Given the description of an element on the screen output the (x, y) to click on. 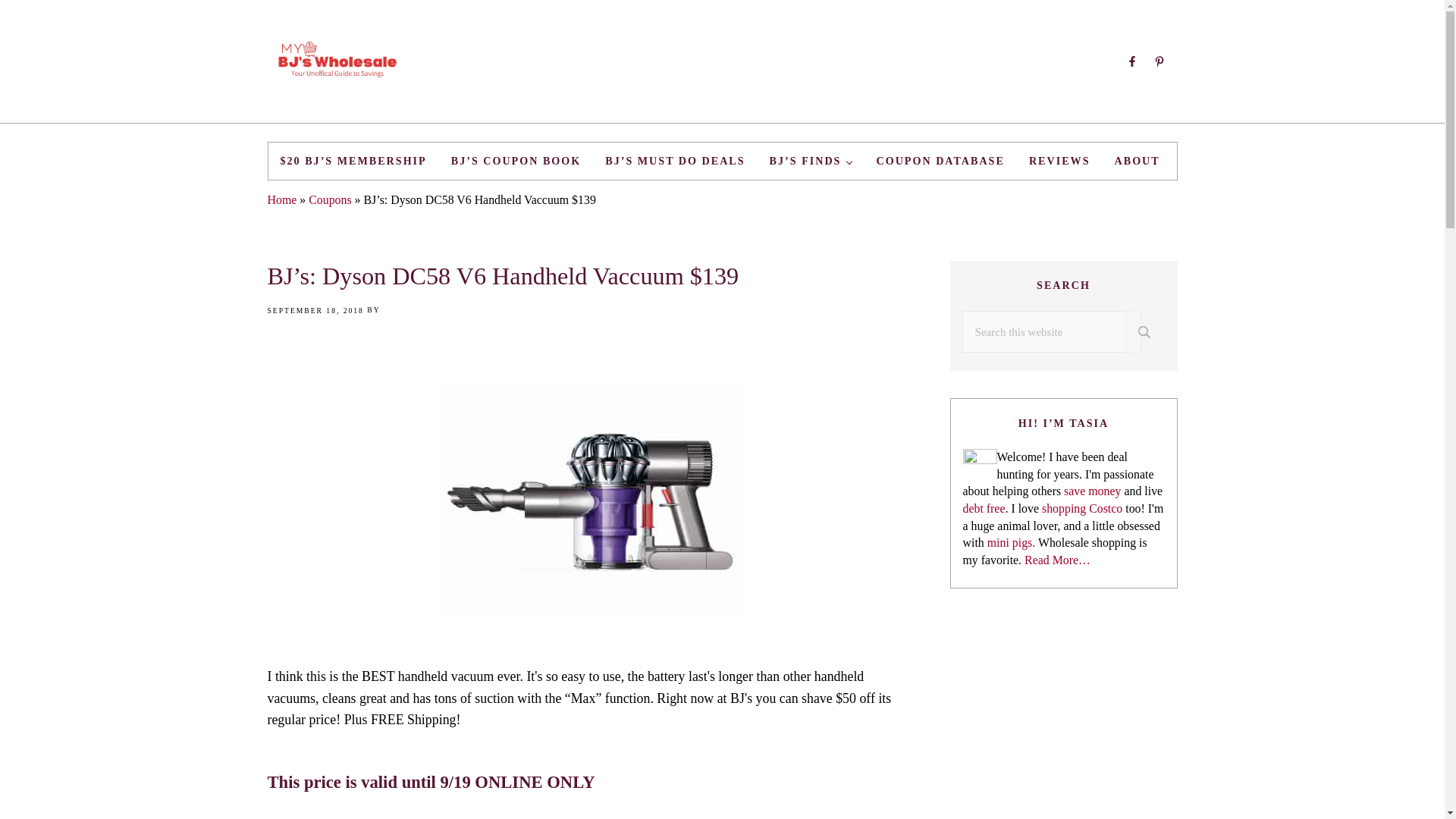
Coupons (329, 199)
REVIEWS (1059, 160)
Home (281, 199)
COUPON DATABASE (939, 160)
ABOUT (1137, 160)
Dyson-DC58-BJs (589, 501)
